Given the description of an element on the screen output the (x, y) to click on. 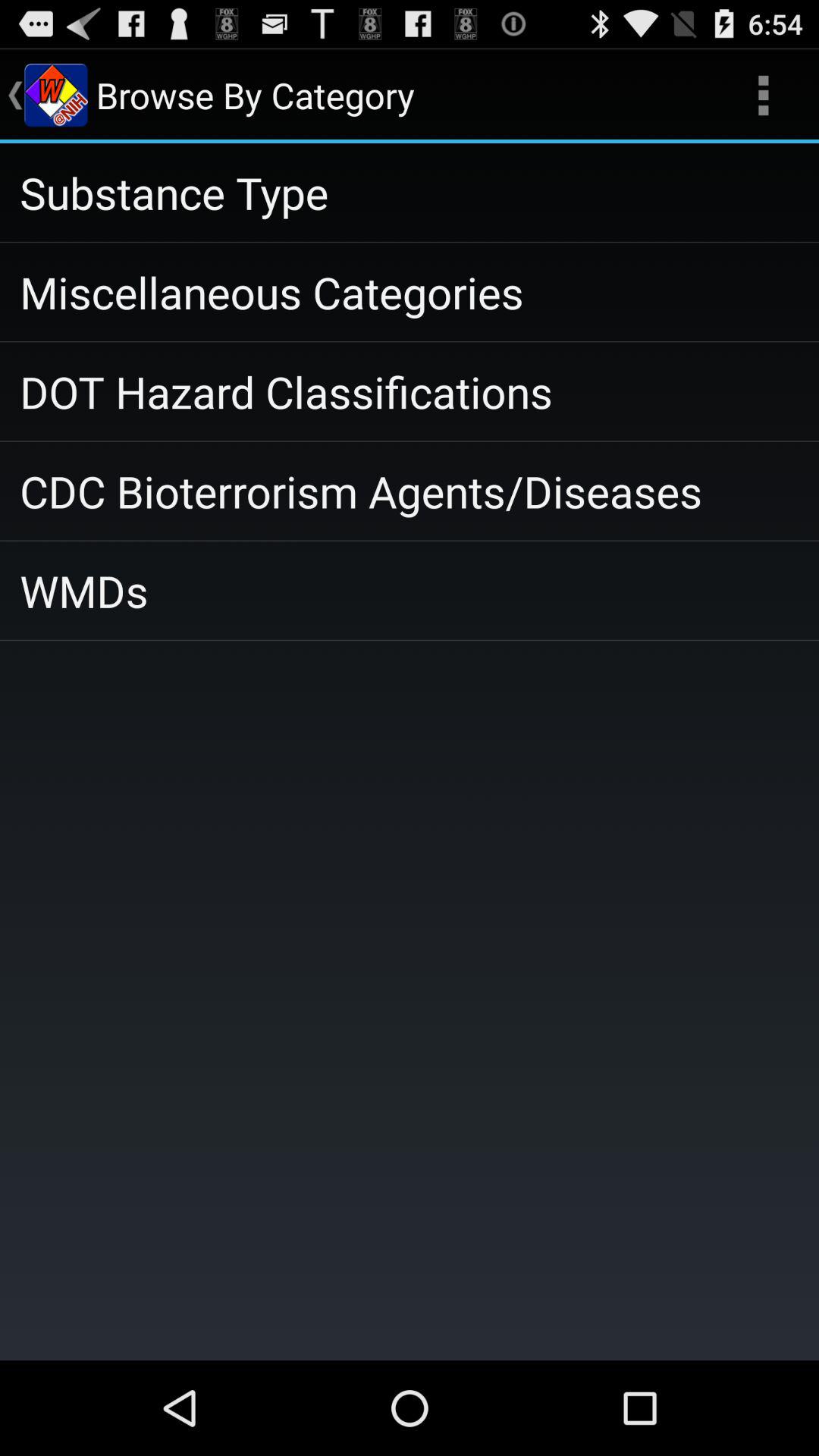
flip to substance type (409, 192)
